Given the description of an element on the screen output the (x, y) to click on. 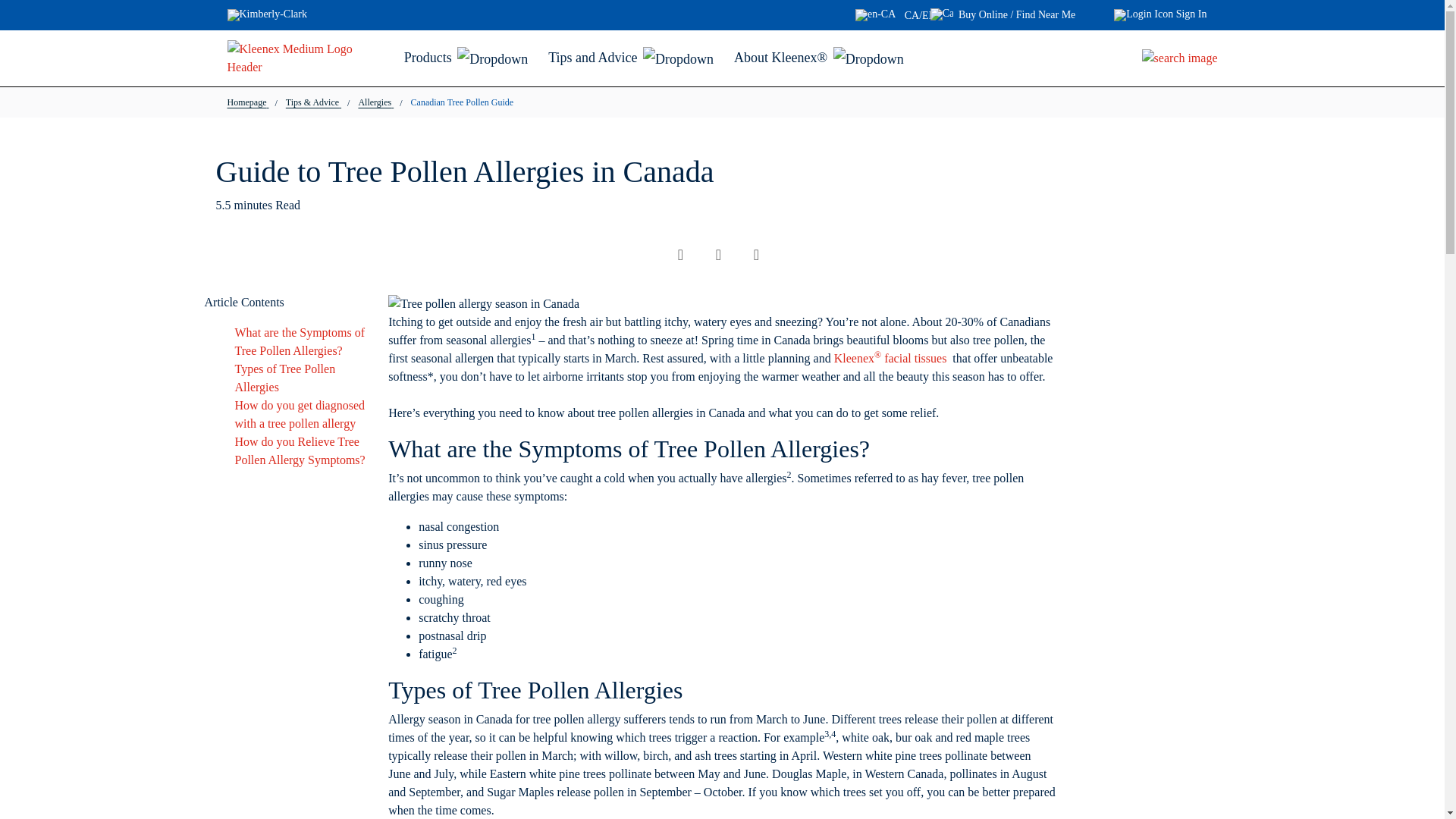
Sign In (1159, 14)
Tips and Advice (631, 57)
Homepage (246, 102)
Products (467, 57)
